Given the description of an element on the screen output the (x, y) to click on. 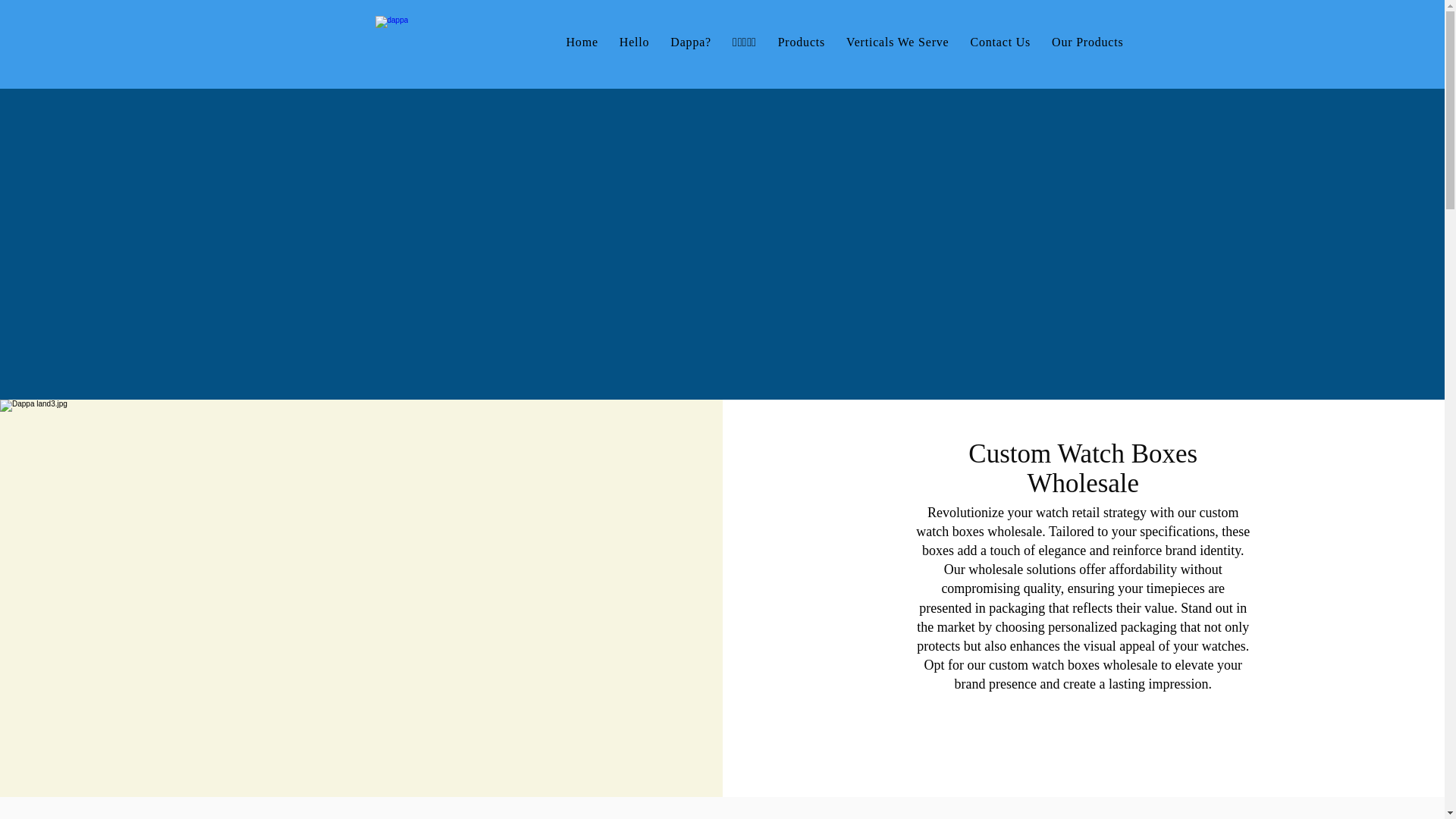
Dappa? (690, 41)
Our Products (1087, 41)
Hello (634, 41)
Verticals We Serve (897, 41)
custom watch boxes wholesale (1077, 521)
Products (801, 41)
Contact Us (1000, 41)
Home (581, 41)
